Given the description of an element on the screen output the (x, y) to click on. 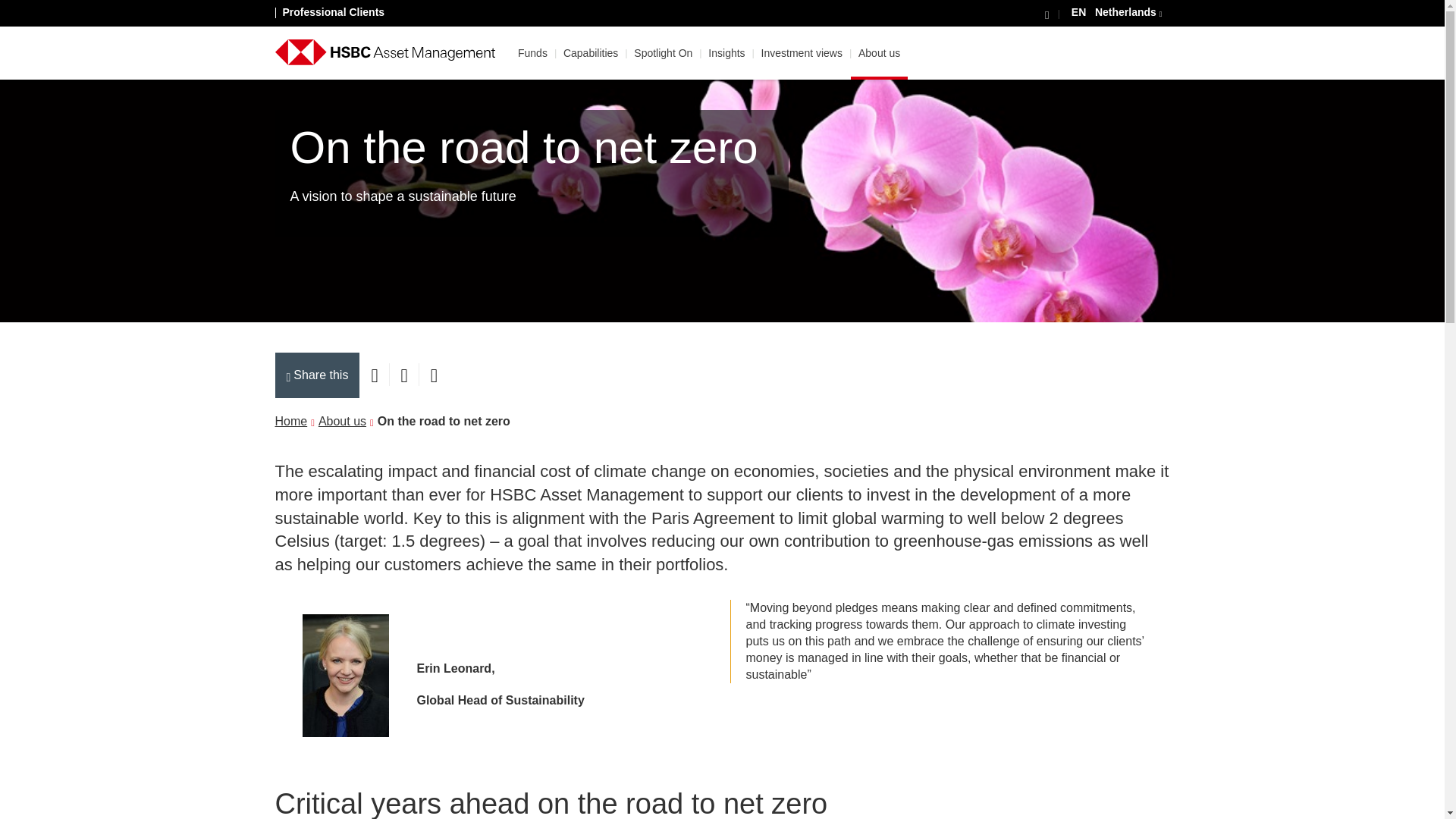
HSBC Asset Management (385, 52)
